Given the description of an element on the screen output the (x, y) to click on. 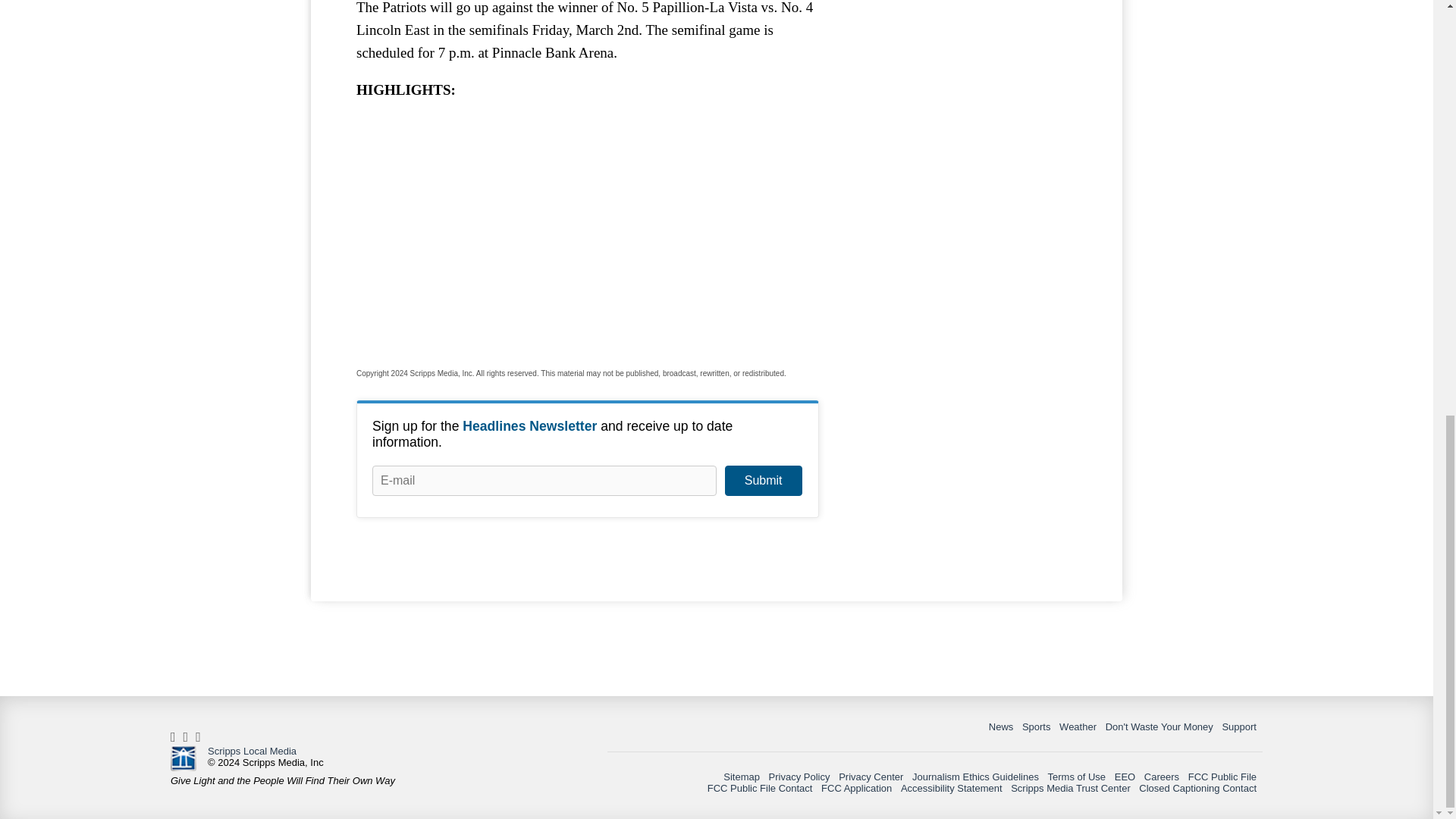
Submit (763, 481)
